Given the description of an element on the screen output the (x, y) to click on. 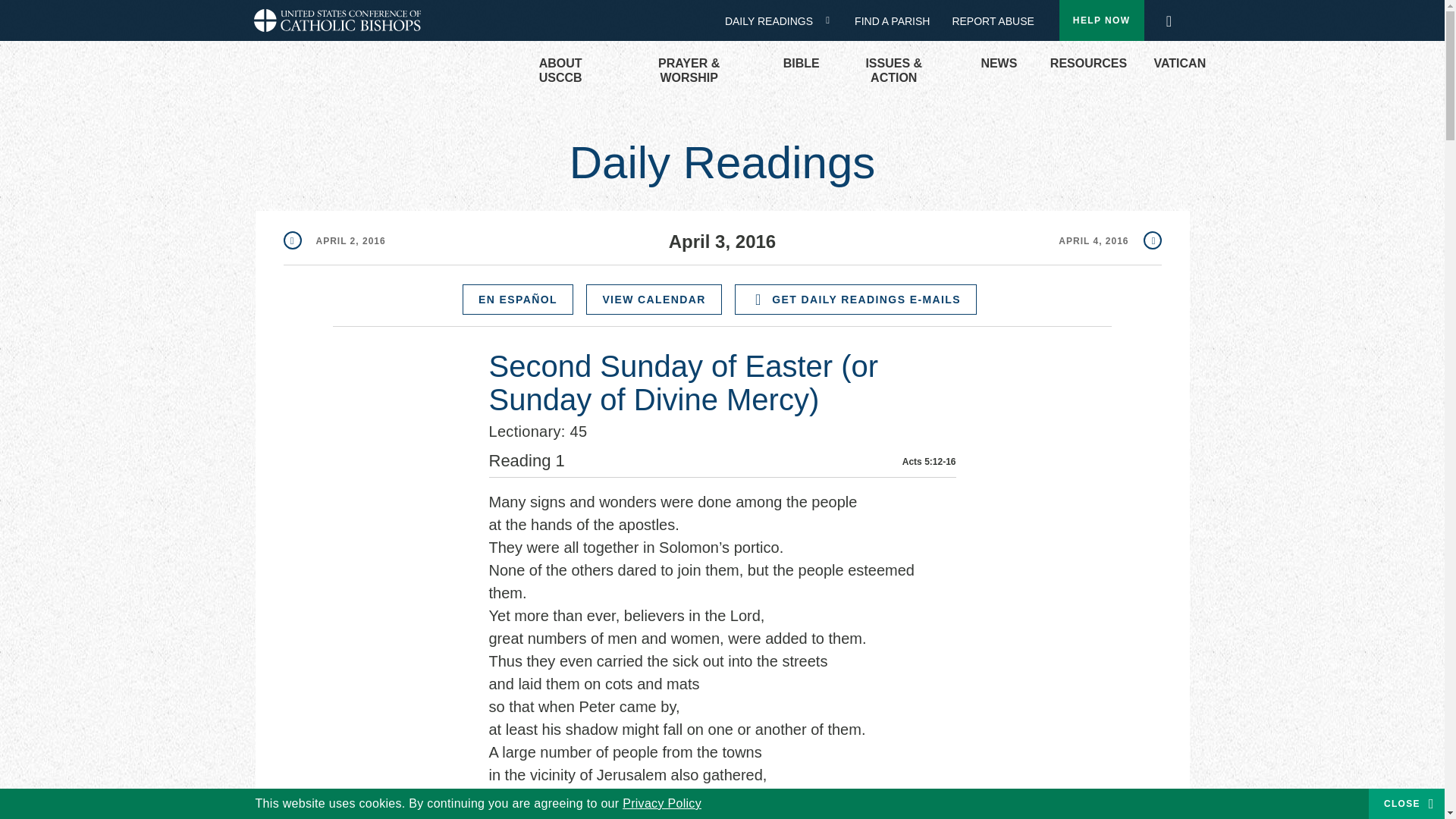
DAILY READINGS CALENDAR (832, 20)
Search (1168, 16)
DAILY READINGS (774, 20)
FIND A PARISH (897, 20)
REPORT ABUSE (992, 20)
Go (1173, 21)
HELP NOW (1101, 20)
Link list for Vatican website (1171, 62)
